Given the description of an element on the screen output the (x, y) to click on. 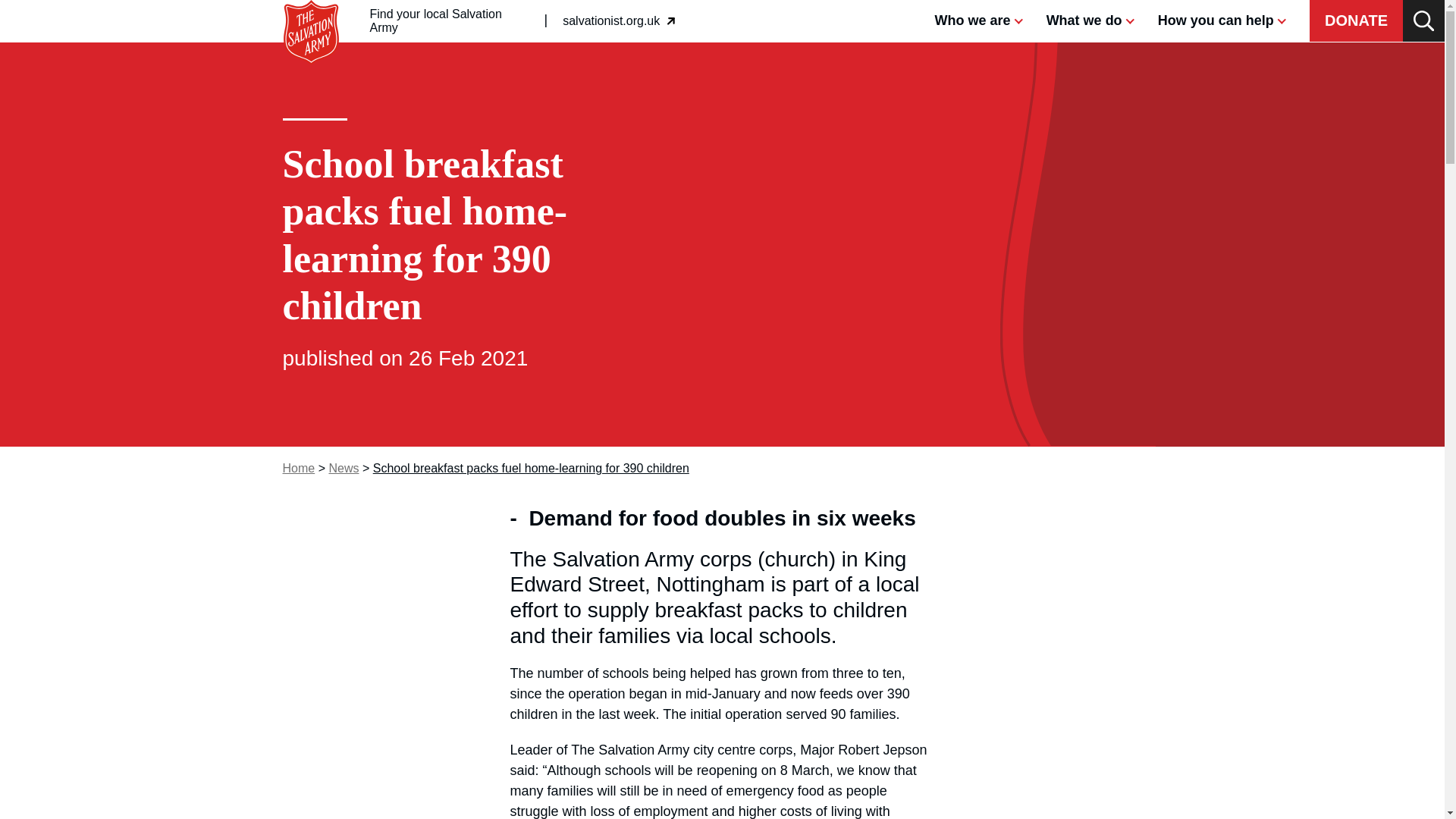
Find your local Salvation Army (449, 21)
Home (618, 20)
